Given the description of an element on the screen output the (x, y) to click on. 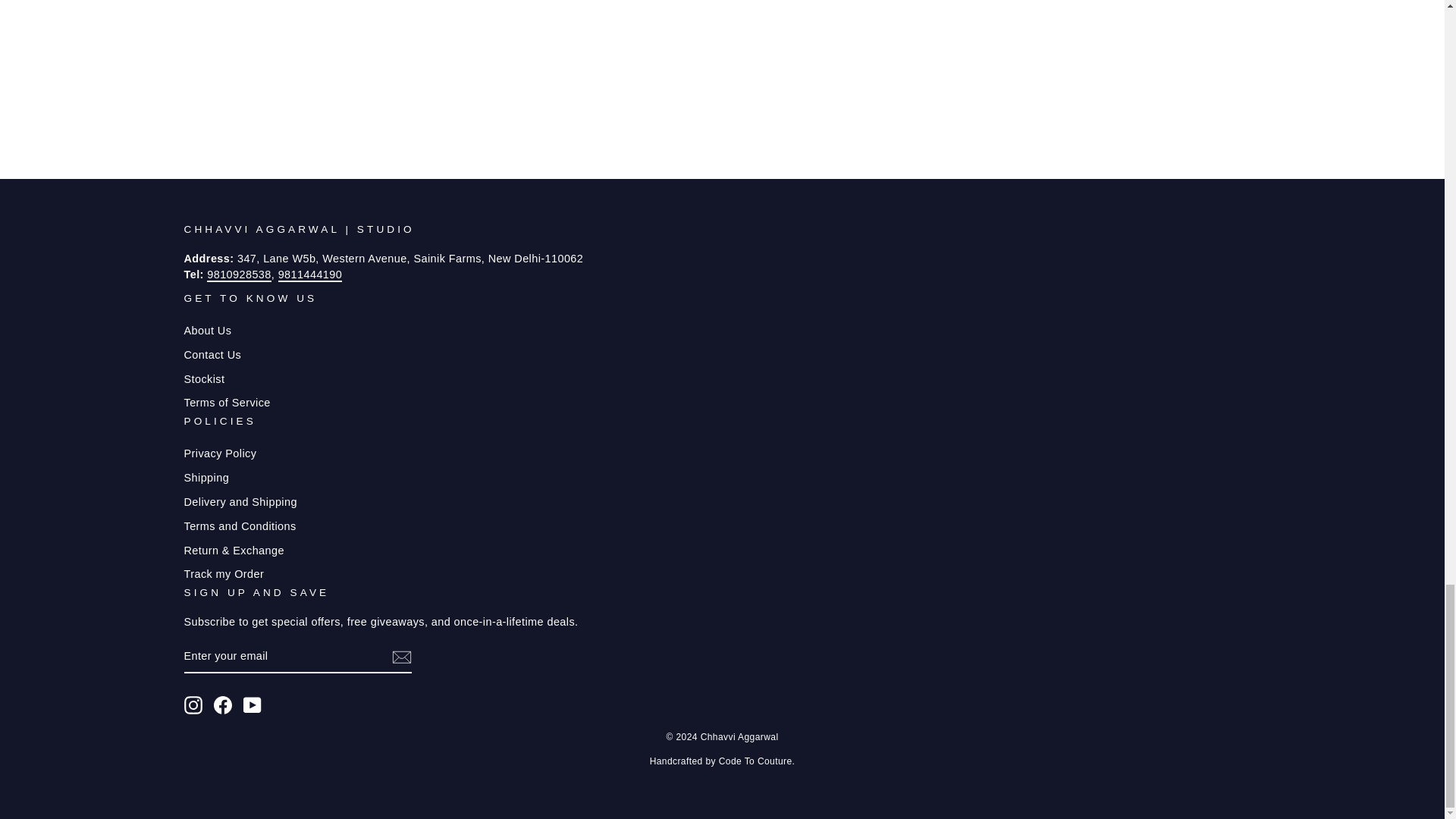
Chhavvi Aggarwal on YouTube (251, 705)
icon-email (400, 657)
instagram (192, 705)
tel:9810928538 (238, 274)
tel:9811444190 (310, 274)
Chhavvi Aggarwal on Facebook (222, 705)
Chhavvi Aggarwal on Instagram (192, 705)
